Given the description of an element on the screen output the (x, y) to click on. 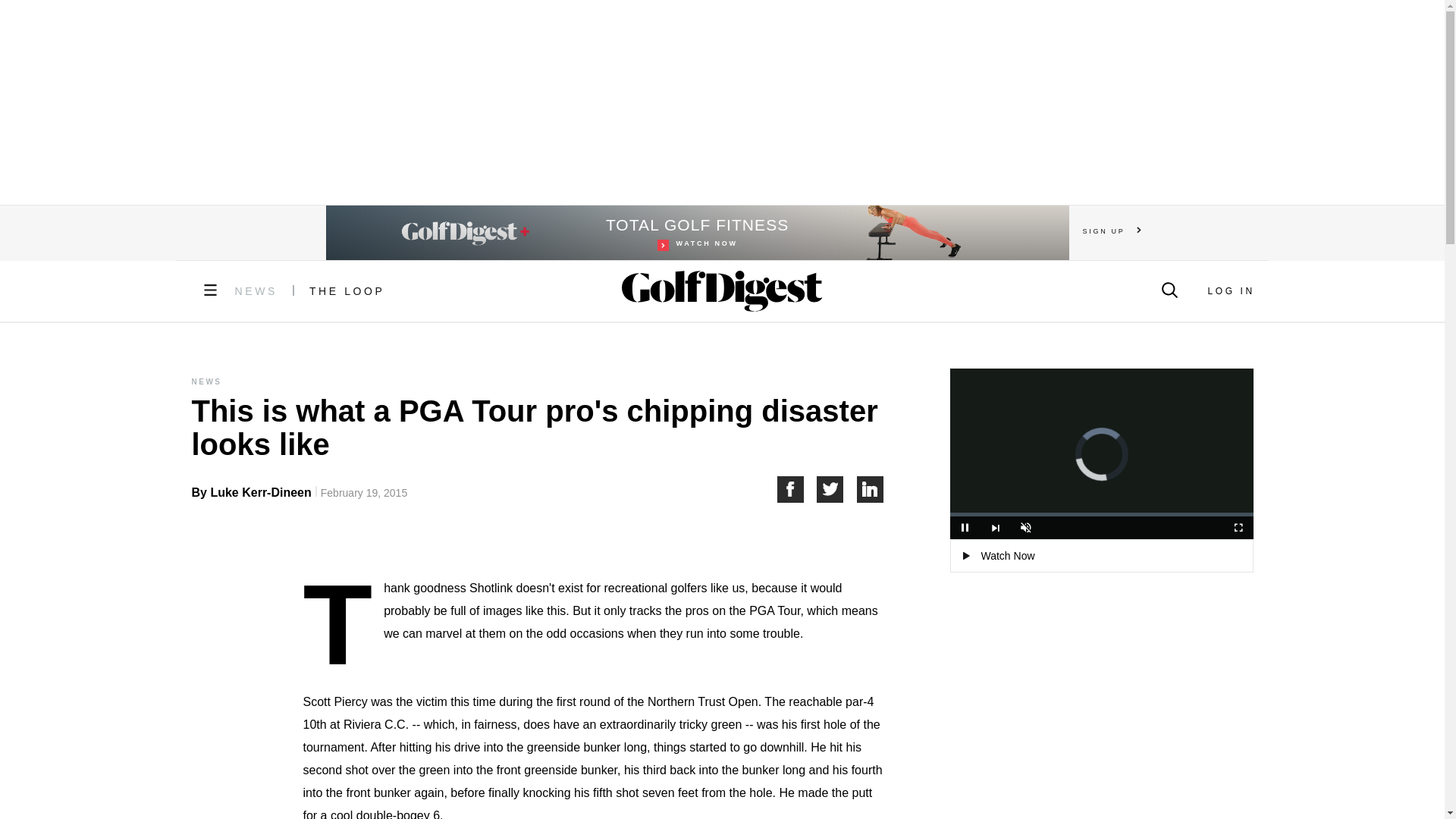
Share on Twitter (697, 232)
Share on LinkedIn (836, 488)
LOG IN (870, 488)
NEWS (1230, 290)
Pause (256, 291)
Share on Facebook (964, 527)
Unmute (796, 488)
THE LOOP (1025, 527)
Next playlist item (346, 291)
